Given the description of an element on the screen output the (x, y) to click on. 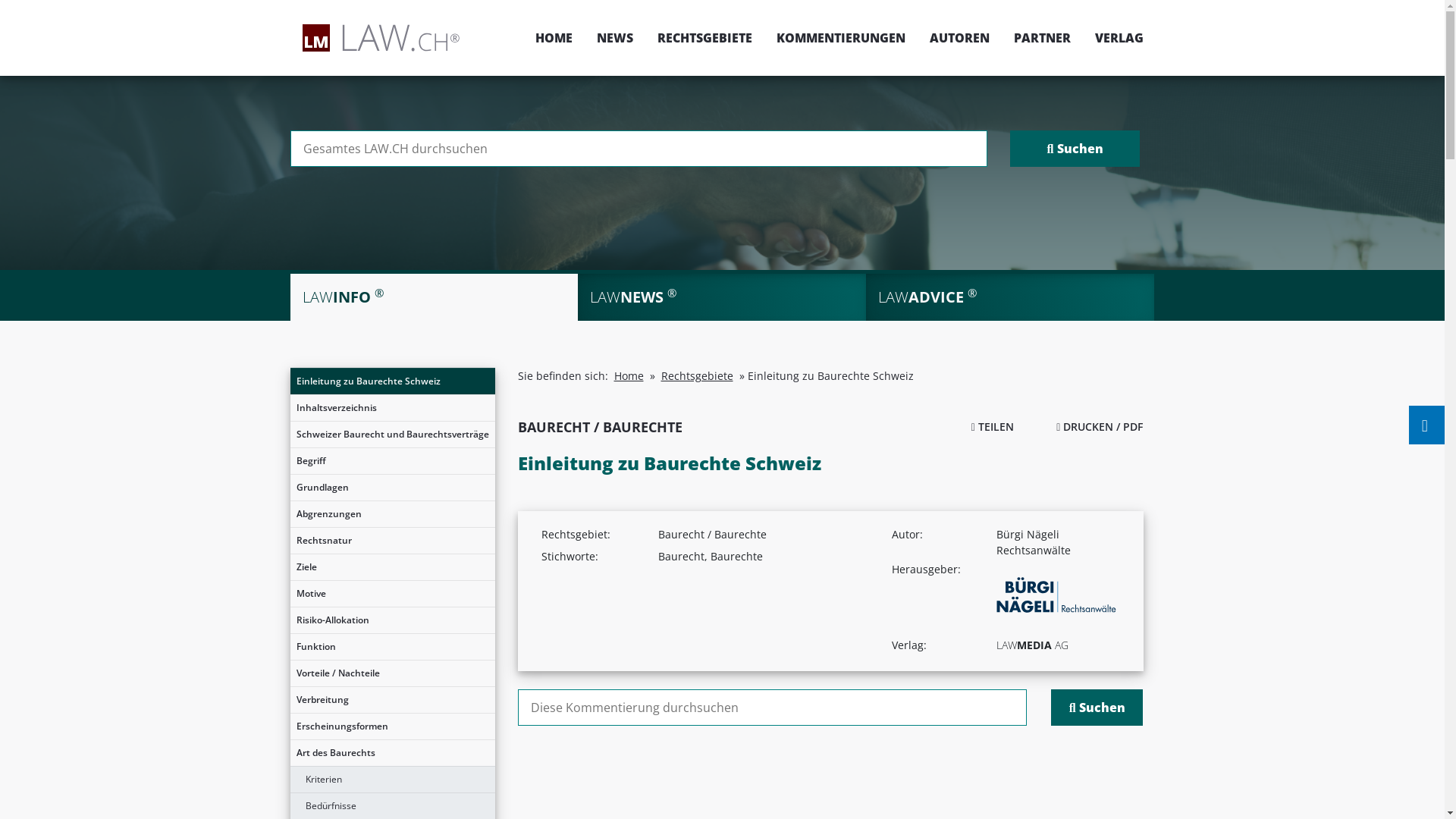
Inhaltsverzeichnis Element type: text (391, 407)
Ziele Element type: text (391, 567)
Abgrenzungen Element type: text (391, 514)
Kriterien Element type: text (391, 779)
Rechtsnatur Element type: text (391, 540)
AUTOREN Element type: text (959, 37)
Einleitung zu Baurechte Schweiz Element type: text (391, 381)
HOME Element type: text (553, 37)
RECHTSGEBIETE Element type: text (703, 37)
NEWS Element type: text (613, 37)
Art des Baurechts Element type: text (391, 752)
Rechtsgebiete Element type: text (697, 375)
Suchen nach: Element type: hover (771, 707)
Verbreitung Element type: text (391, 699)
Suchen nach: Element type: hover (637, 148)
Funktion Element type: text (391, 646)
Home Element type: text (628, 375)
Motive Element type: text (391, 593)
 DRUCKEN / PDF Element type: text (1099, 426)
PARTNER Element type: text (1041, 37)
Grundlagen Element type: text (391, 487)
Risiko-Allokation Element type: text (391, 620)
Erscheinungsformen Element type: text (391, 726)
KOMMENTIERUNGEN Element type: text (840, 37)
VERLAG Element type: text (1112, 37)
 TEILEN Element type: text (992, 426)
Begriff Element type: text (391, 460)
Vorteile / Nachteile Element type: text (391, 673)
